Given the description of an element on the screen output the (x, y) to click on. 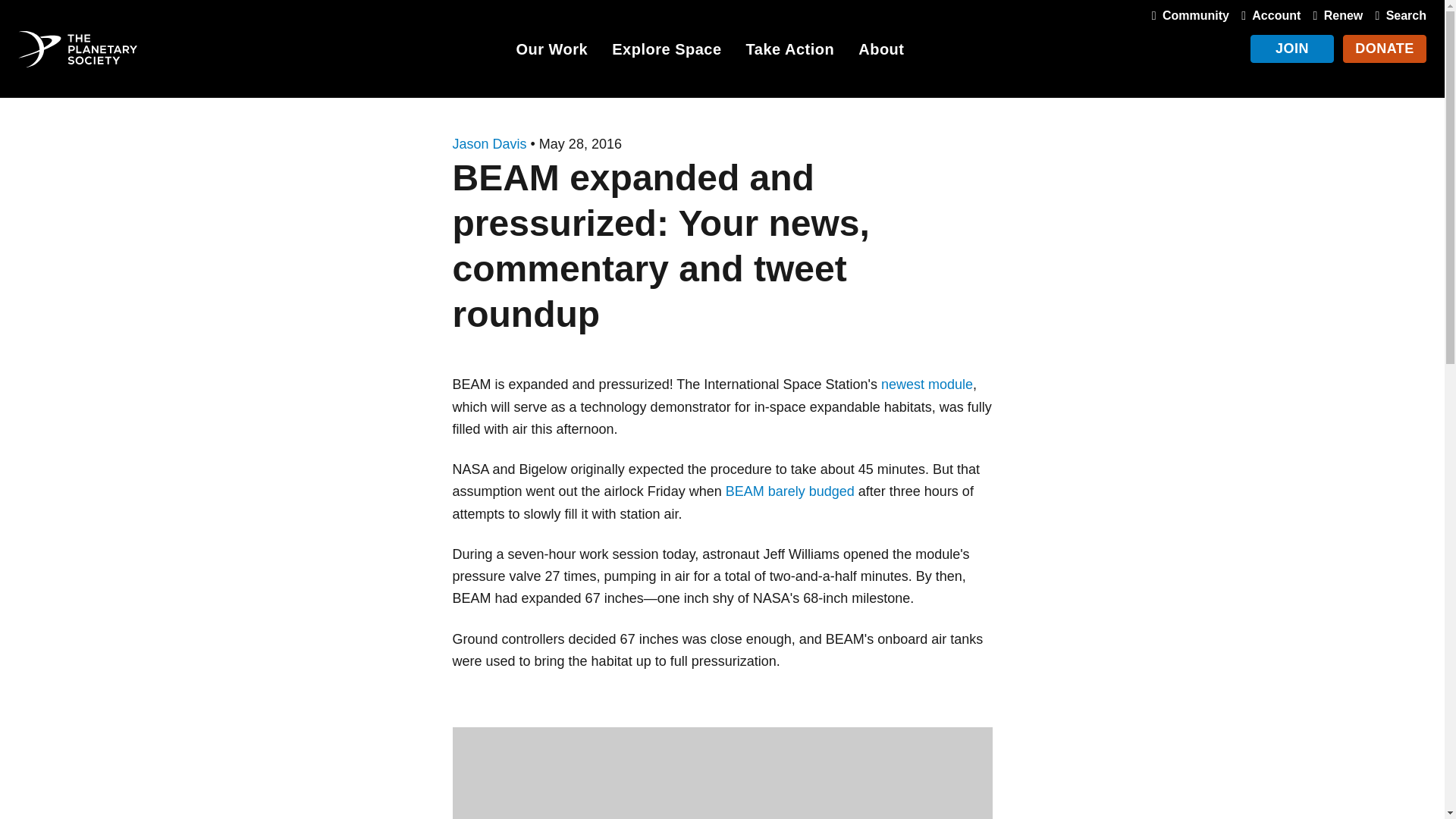
Account (1267, 15)
Explore Space (665, 51)
DONATE (1384, 49)
Renew (1334, 15)
JOIN (1291, 49)
Search (1397, 15)
About (881, 51)
Our Work (551, 51)
Community (1186, 15)
Take Action (789, 51)
